Given the description of an element on the screen output the (x, y) to click on. 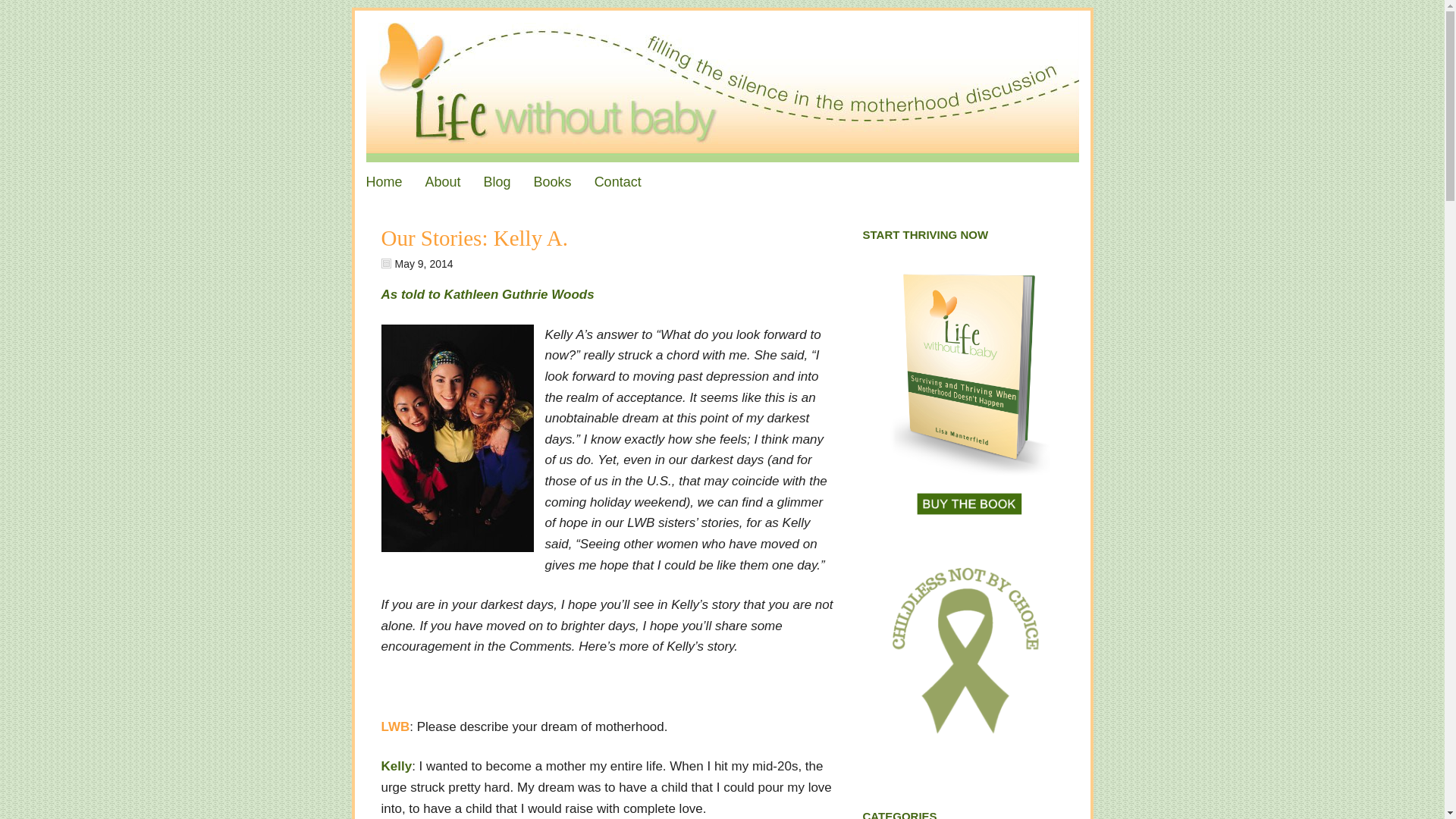
Life Without Baby (722, 86)
Home (384, 181)
About (442, 181)
Books (552, 181)
Blog (496, 181)
Contact (617, 181)
